Given the description of an element on the screen output the (x, y) to click on. 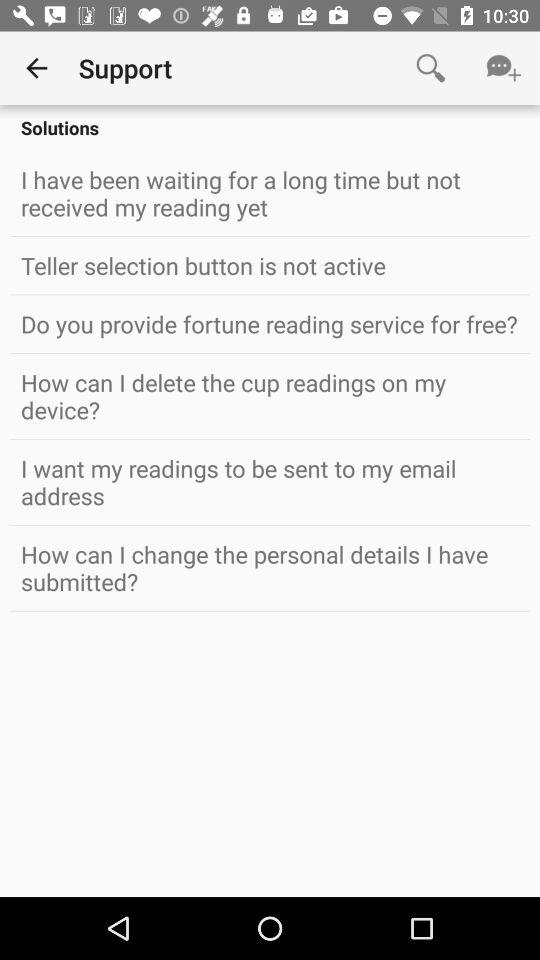
click on the search option (431, 68)
